Given the description of an element on the screen output the (x, y) to click on. 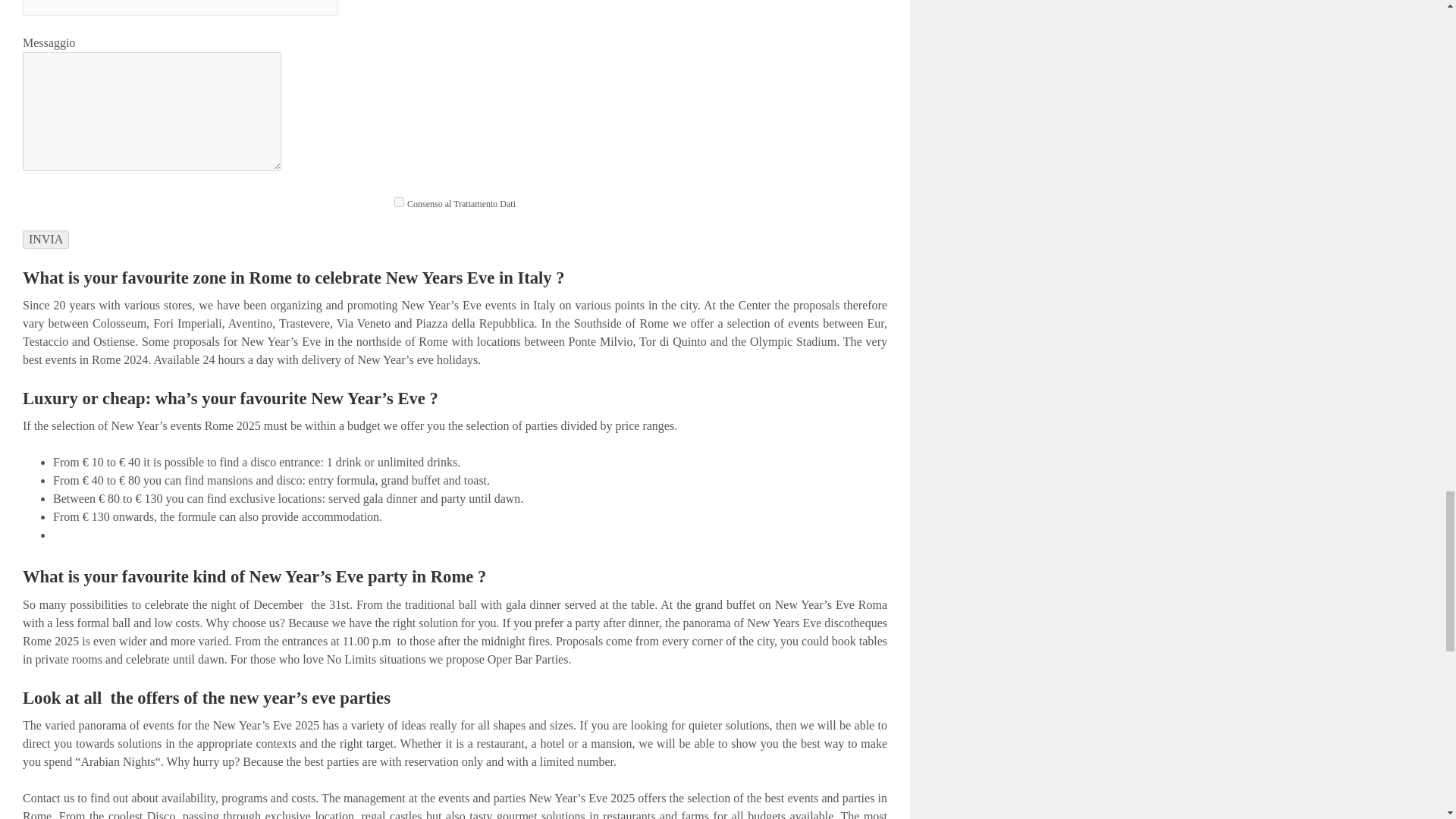
INVIA (45, 239)
1 (399, 202)
